Given the description of an element on the screen output the (x, y) to click on. 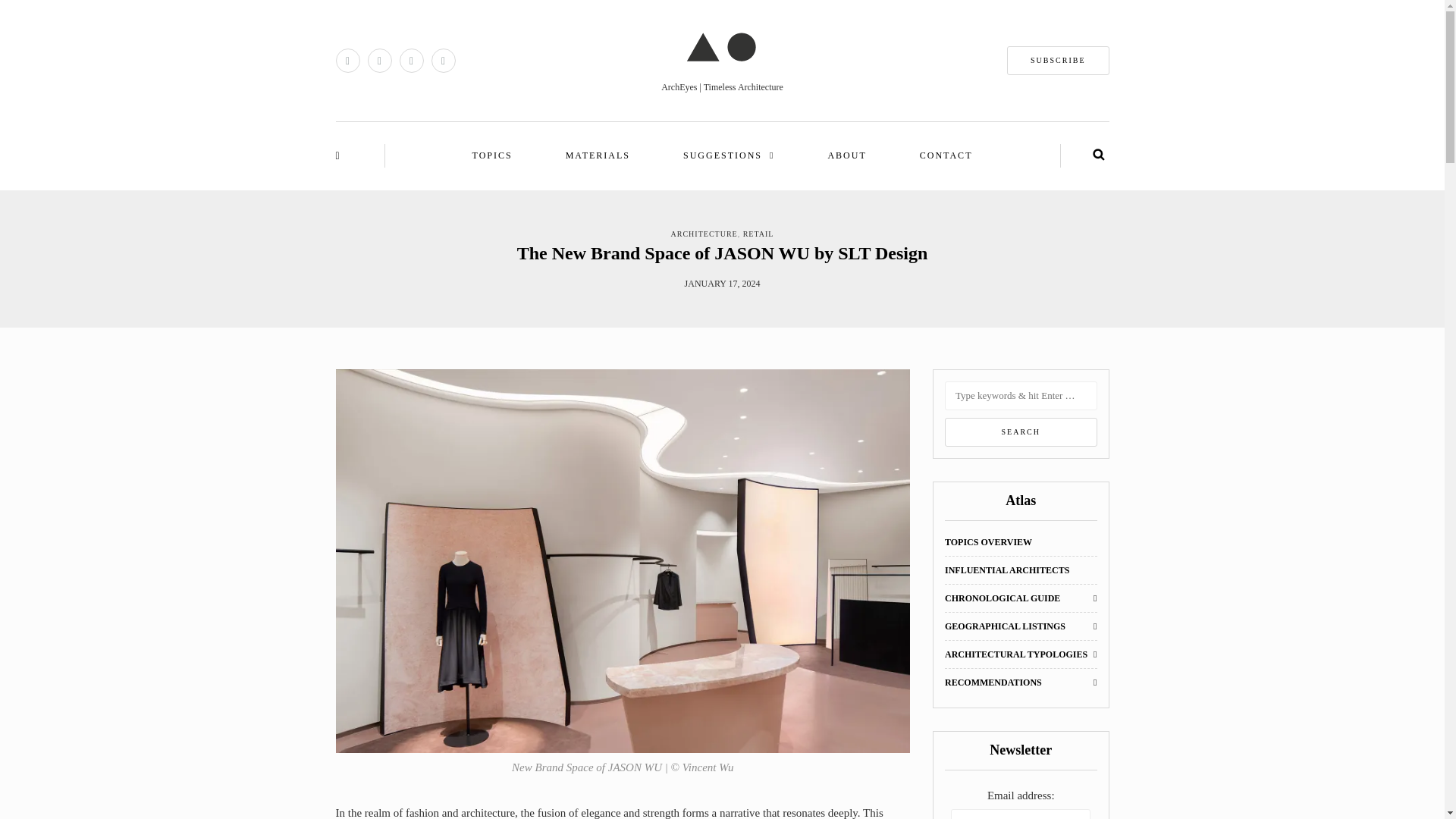
TOPICS (492, 155)
ABOUT (846, 155)
SUBSCRIBE (1057, 60)
RETAIL (758, 234)
SUGGESTIONS (728, 155)
Search (1020, 431)
MATERIALS (597, 155)
CONTACT (945, 155)
ARCHITECTURE (704, 234)
